Given the description of an element on the screen output the (x, y) to click on. 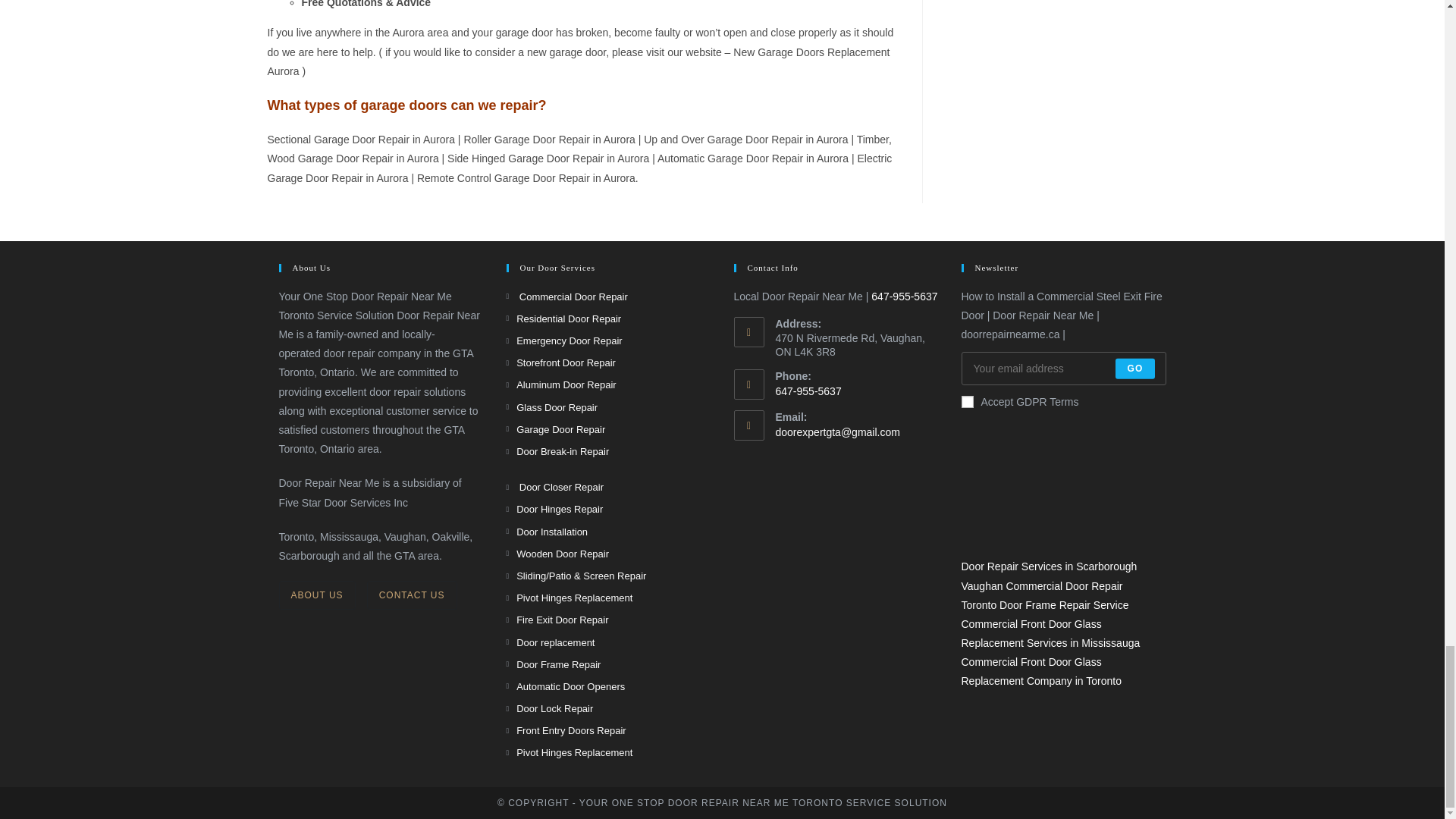
1 (967, 401)
